Given the description of an element on the screen output the (x, y) to click on. 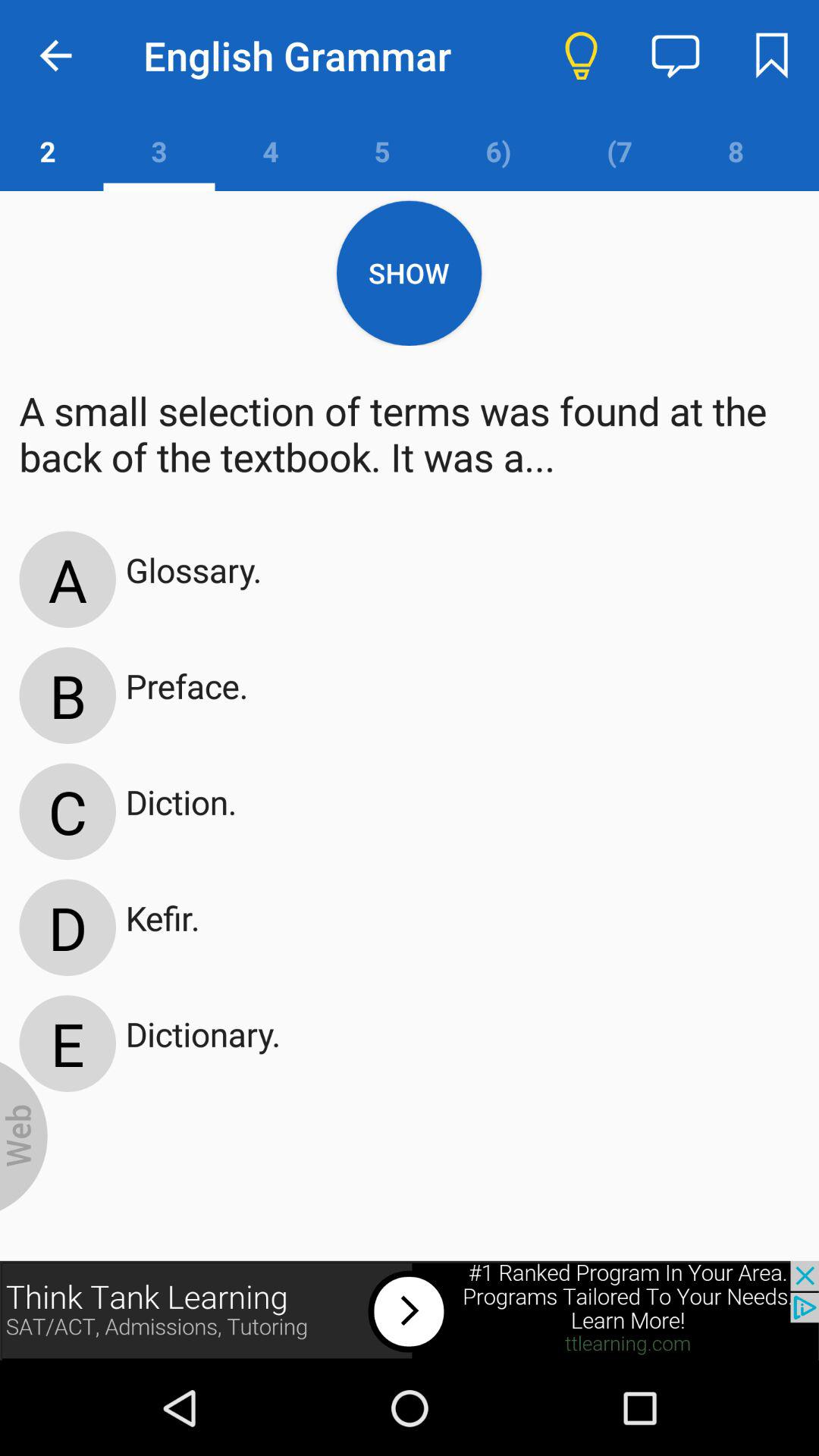
go to the think tank learning website (409, 1310)
